Given the description of an element on the screen output the (x, y) to click on. 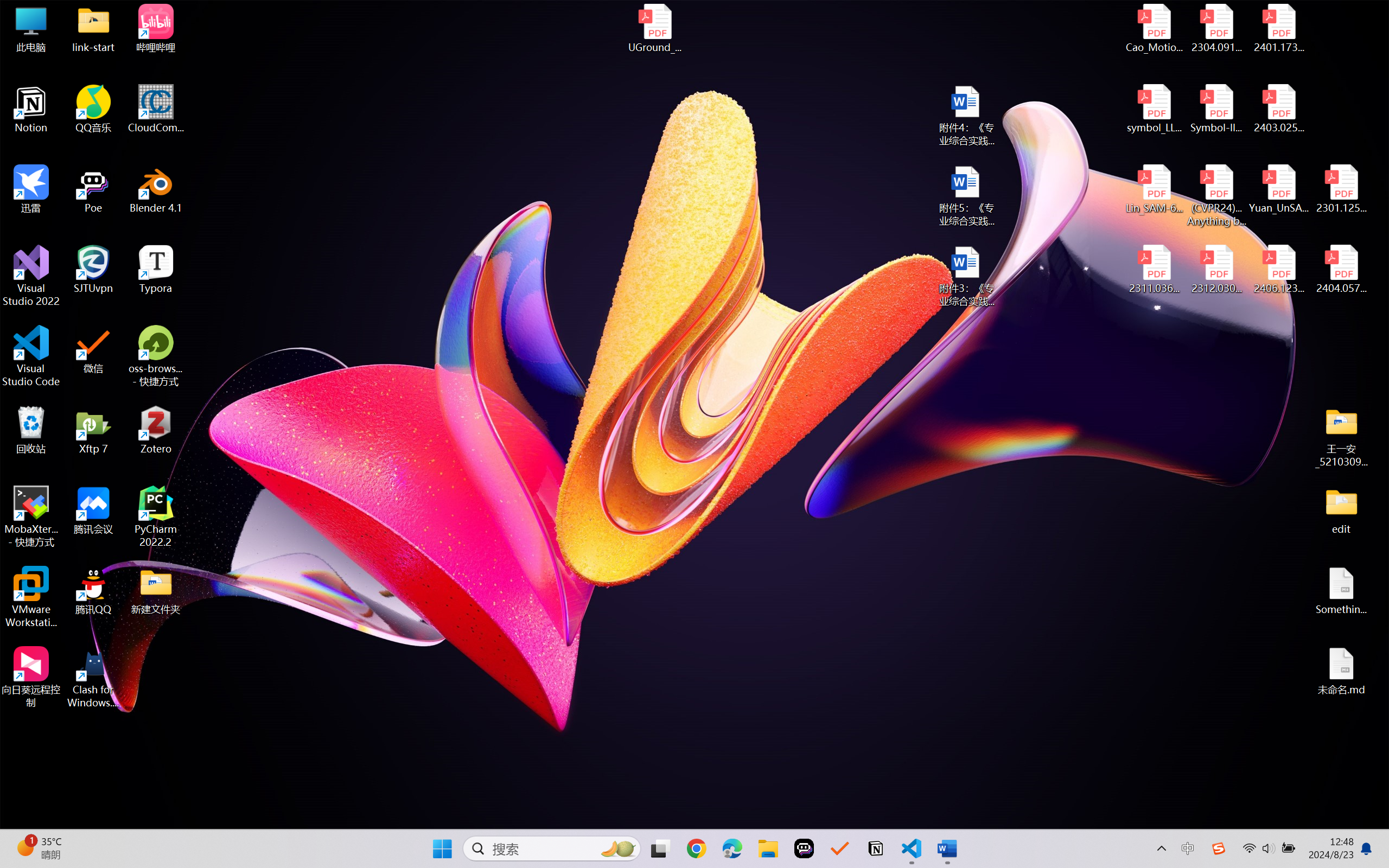
2403.02502v1.pdf (1278, 109)
Typora (156, 269)
symbol_LLM.pdf (1154, 109)
2406.12373v2.pdf (1278, 269)
